Given the description of an element on the screen output the (x, y) to click on. 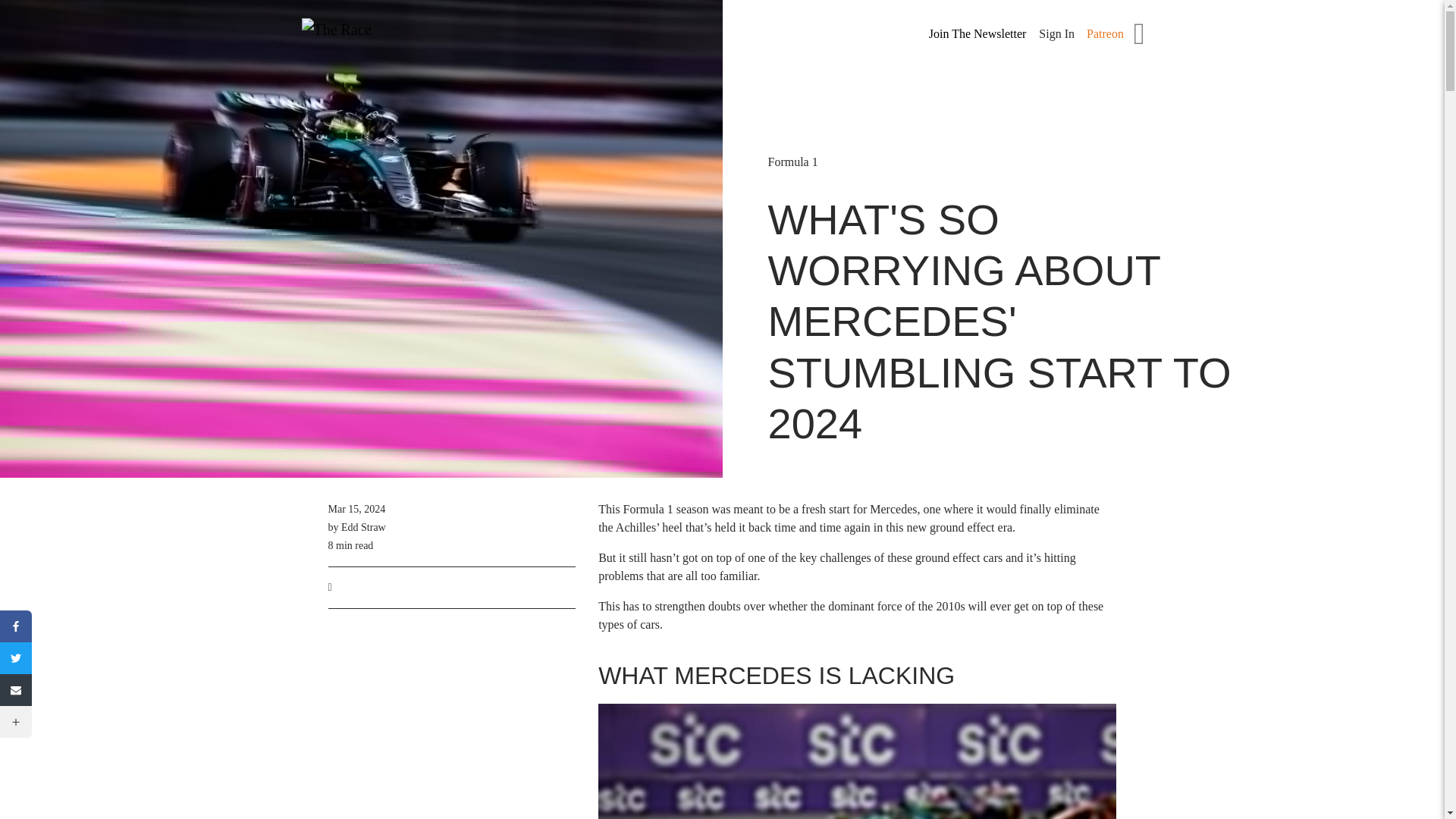
Join The Newsletter (977, 34)
Patreon (1105, 33)
Sign In (1056, 33)
